Given the description of an element on the screen output the (x, y) to click on. 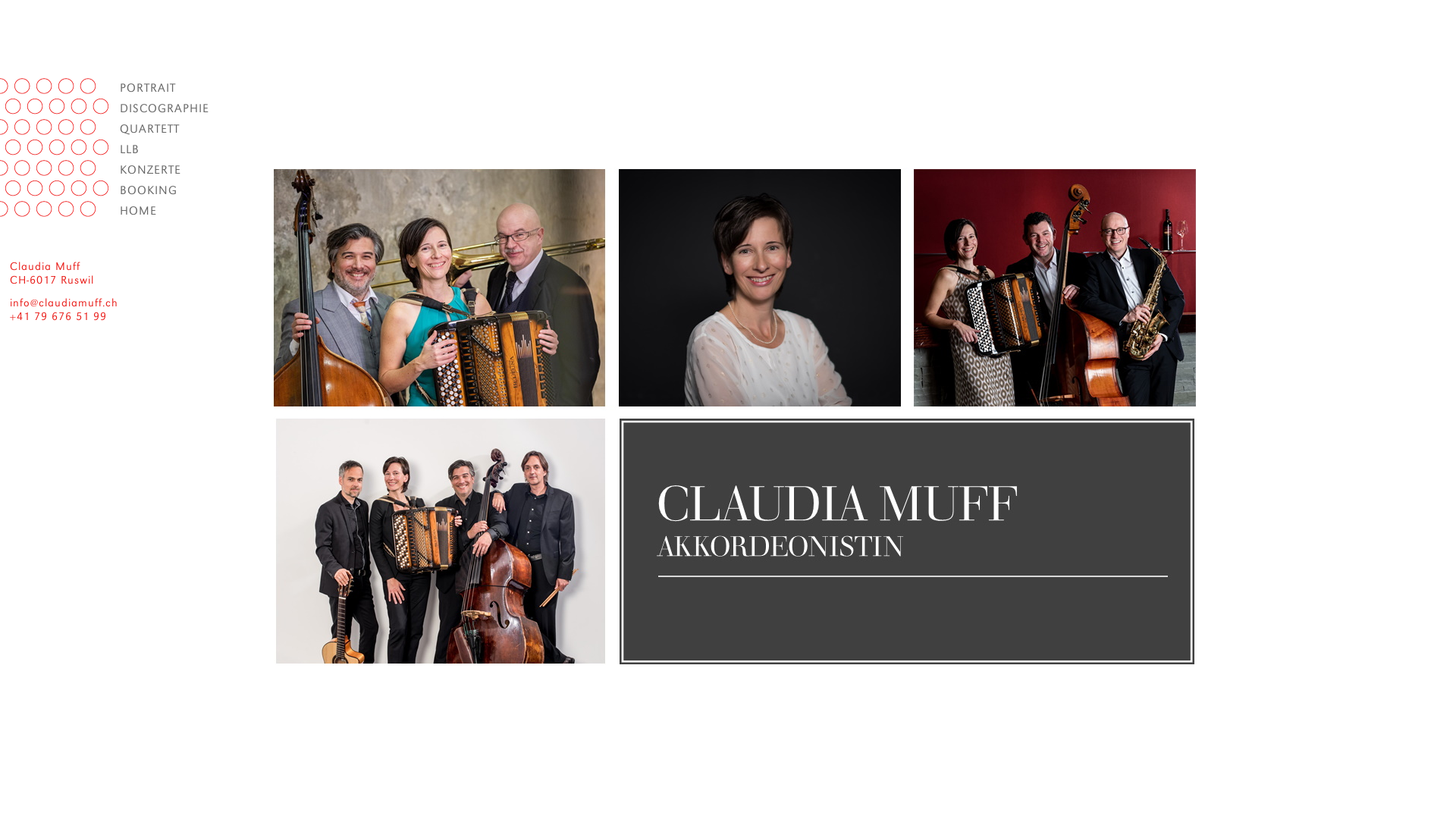
LLB Element type: text (113, 149)
info@claudiamuff.ch Element type: text (63, 301)
QUARTETT Element type: text (111, 128)
KONZERTE Element type: text (111, 169)
PORTRAIT Element type: text (111, 87)
HOME Element type: text (111, 210)
DISCOGRAPHIE Element type: text (113, 108)
BOOKING Element type: text (113, 190)
